Given the description of an element on the screen output the (x, y) to click on. 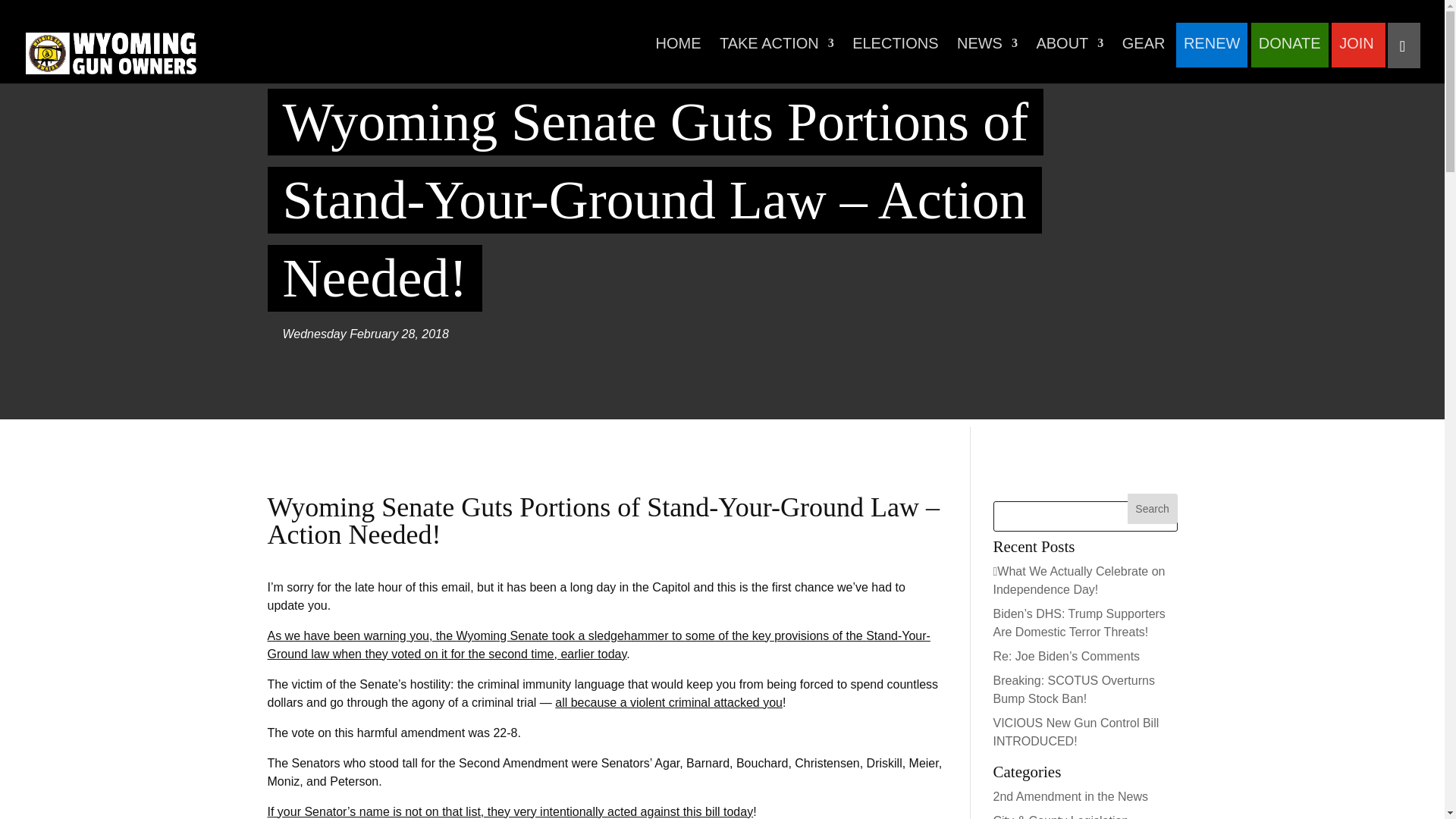
ELECTIONS (894, 52)
RENEW (1211, 52)
HOME (677, 52)
ABOUT (1069, 52)
NEWS (986, 52)
TAKE ACTION (776, 52)
Search (1151, 508)
GEAR (1144, 52)
DONATE (1289, 52)
JOIN (1356, 52)
